Given the description of an element on the screen output the (x, y) to click on. 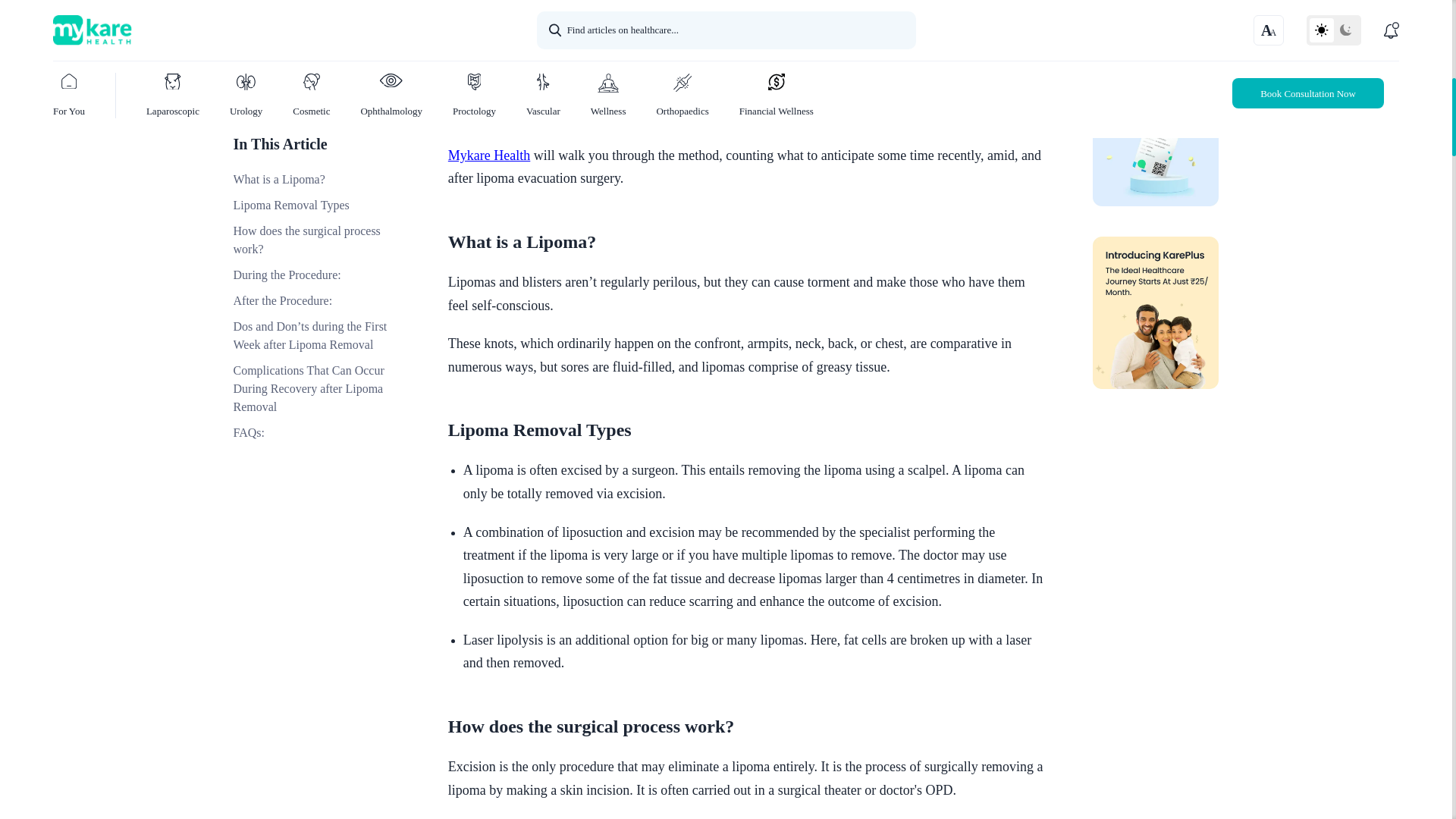
Mykare Health (488, 155)
How does the surgical process work? (747, 726)
What is a Lipoma? (747, 241)
Lipoma Removal Types (747, 429)
